Given the description of an element on the screen output the (x, y) to click on. 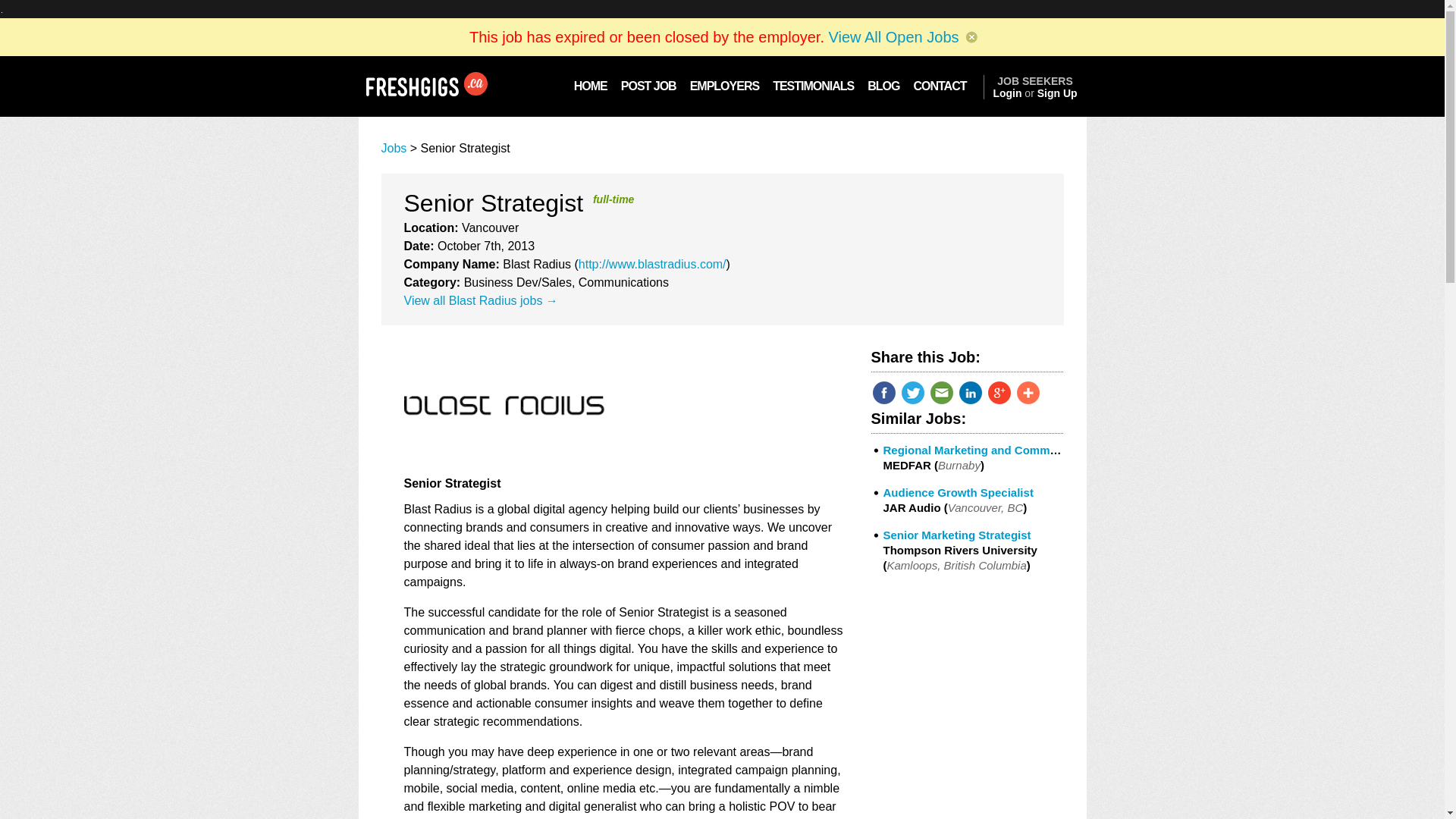
Senior Marketing Strategist (956, 534)
CONTACT (943, 86)
Audience Growth Specialist (957, 492)
TESTIMONIALS (812, 86)
POST JOB (648, 86)
Sign Up (1056, 92)
View All Open Jobs (893, 36)
Login (1007, 92)
EMPLOYERS (723, 86)
Regional Marketing and Communications Specialist BC (1032, 449)
Jobs (393, 147)
